Given the description of an element on the screen output the (x, y) to click on. 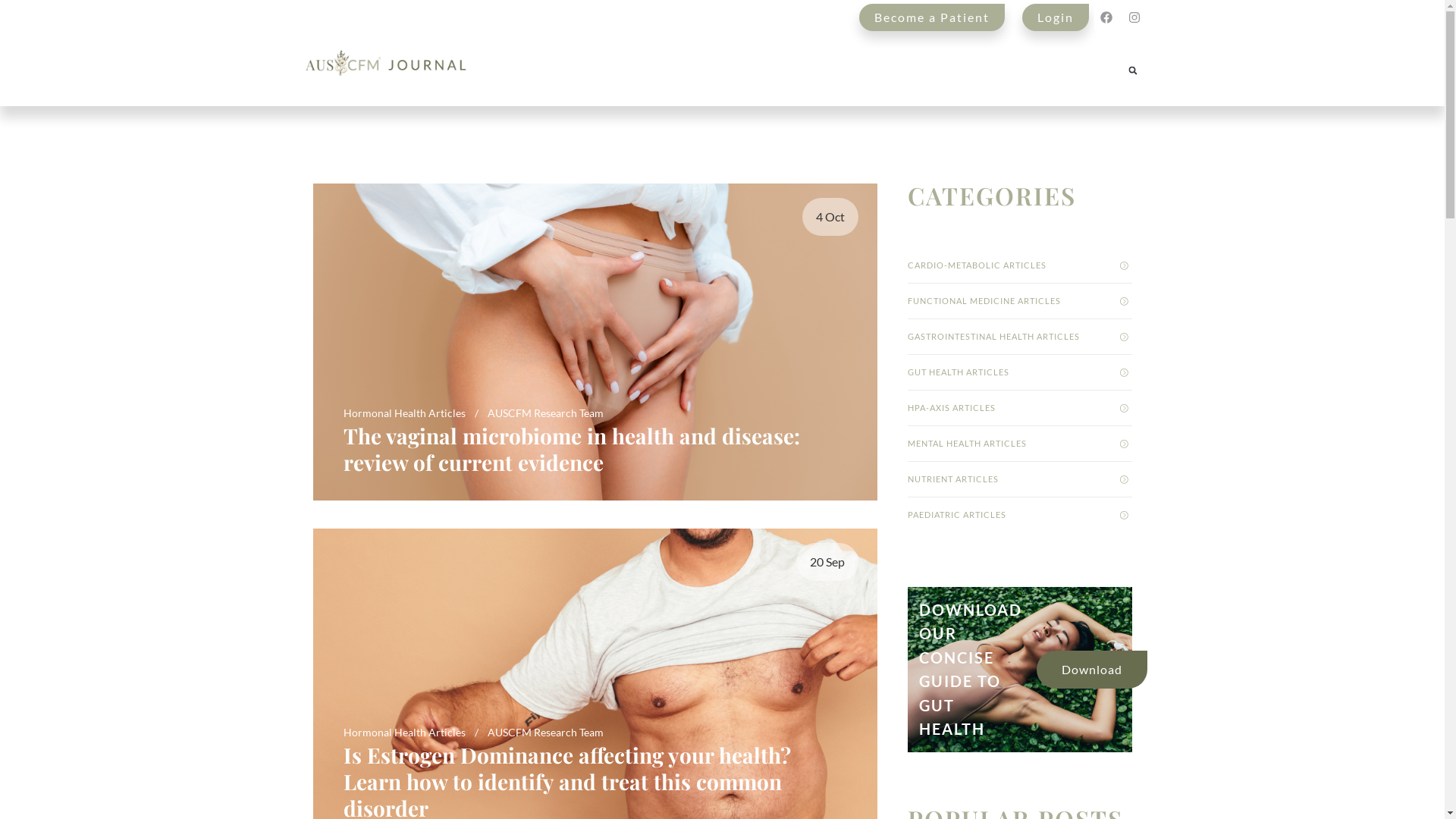
MENTAL HEALTH ARTICLES Element type: text (1018, 443)
Hormonal Health Articles Element type: text (403, 732)
Login Element type: text (1055, 17)
GUT HEALTH ARTICLES Element type: text (1018, 372)
Hormonal Health Articles Element type: text (403, 413)
NUTRIENT ARTICLES Element type: text (1018, 479)
FUNCTIONAL MEDICINE ARTICLES Element type: text (1018, 300)
HPA-AXIS ARTICLES Element type: text (1018, 407)
PAEDIATRIC ARTICLES Element type: text (1018, 514)
GASTROINTESTINAL HEALTH ARTICLES Element type: text (1018, 336)
AUSCFM Research Team Element type: text (544, 413)
Become a Patient Element type: text (931, 17)
Download Element type: text (1090, 669)
CARDIO-METABOLIC ARTICLES Element type: text (1018, 265)
20 Sep Element type: text (826, 561)
AUSCFM Research Team Element type: text (544, 732)
4 Oct Element type: text (829, 216)
